Given the description of an element on the screen output the (x, y) to click on. 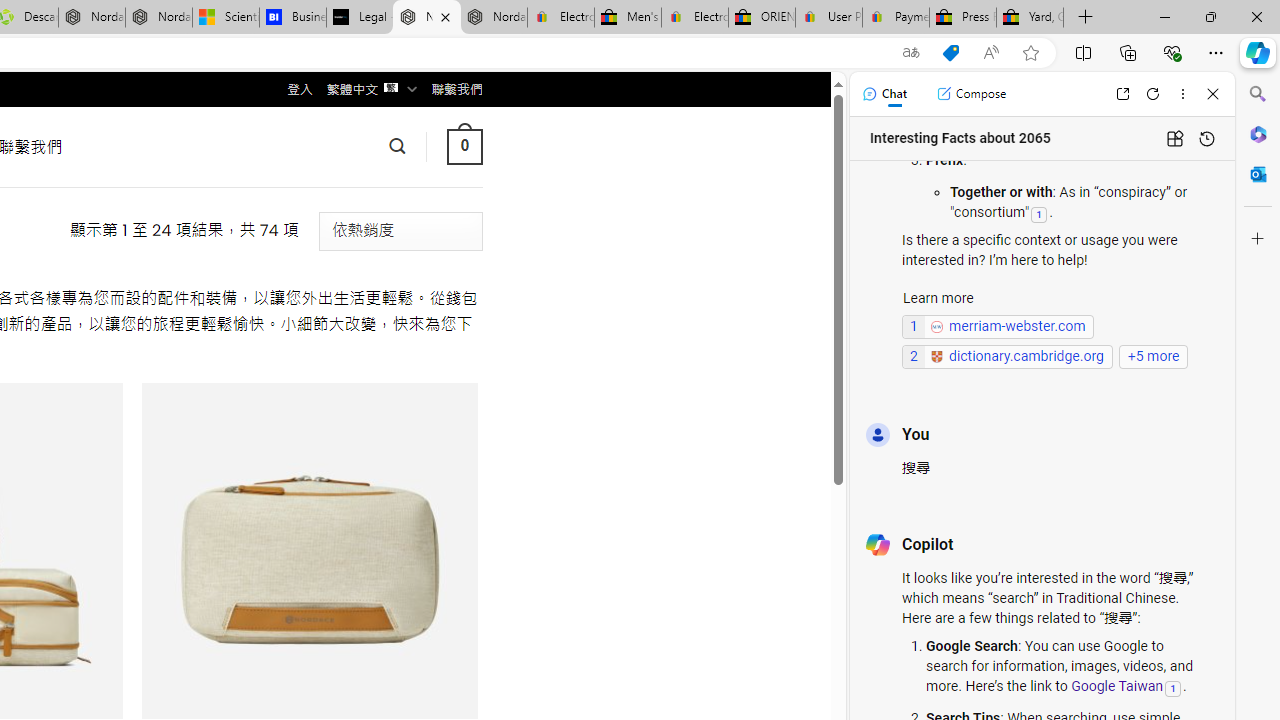
Minimize Search pane (1258, 94)
More options (1182, 93)
Compose (971, 93)
Nordace - Summer Adventures 2024 (91, 17)
This site has coupons! Shopping in Microsoft Edge (950, 53)
Press Room - eBay Inc. (962, 17)
